Given the description of an element on the screen output the (x, y) to click on. 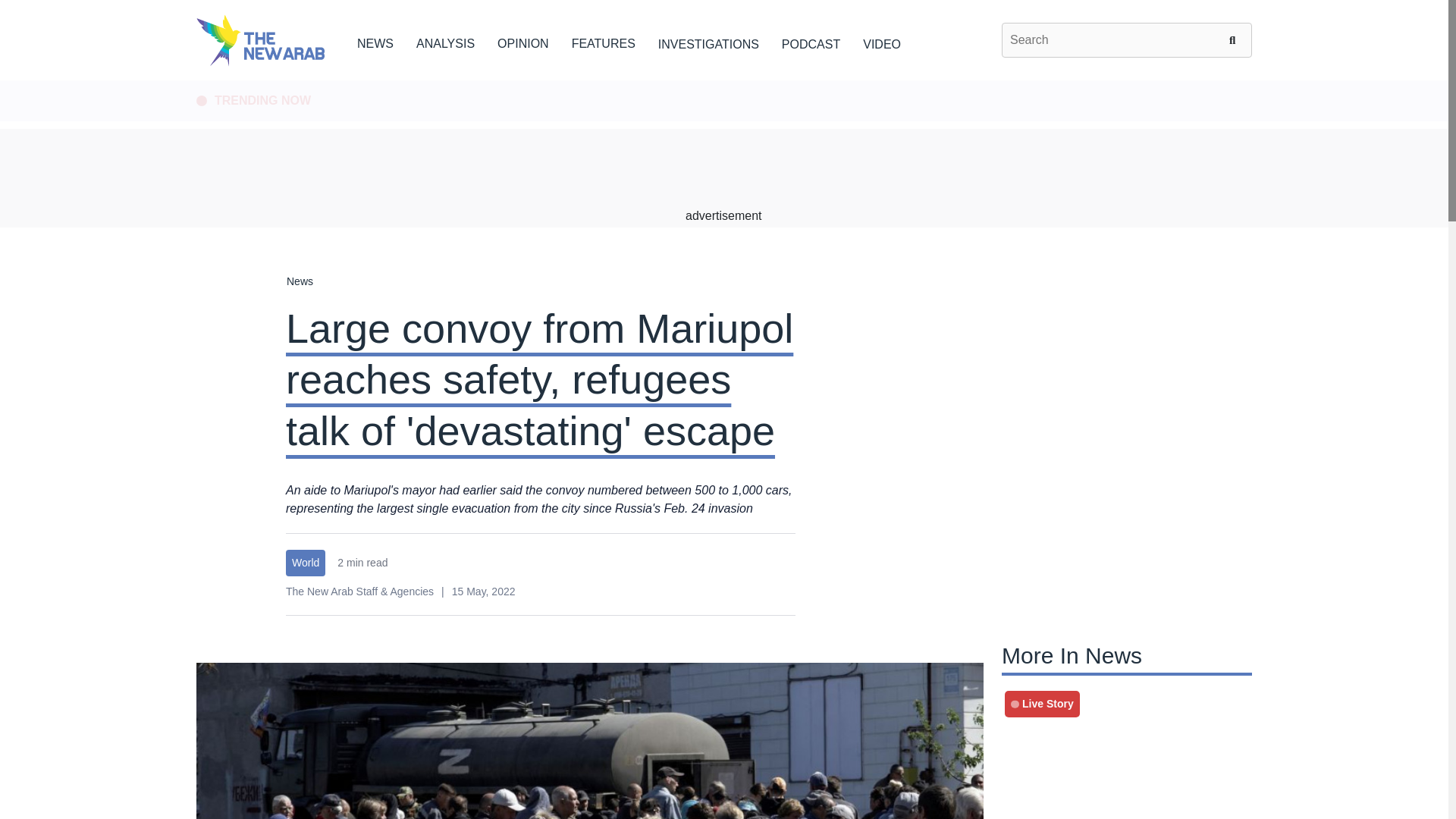
OPINION (523, 41)
ANALYSIS (445, 41)
Search (1234, 39)
NEWS (375, 41)
Skip to main content (724, 81)
